Given the description of an element on the screen output the (x, y) to click on. 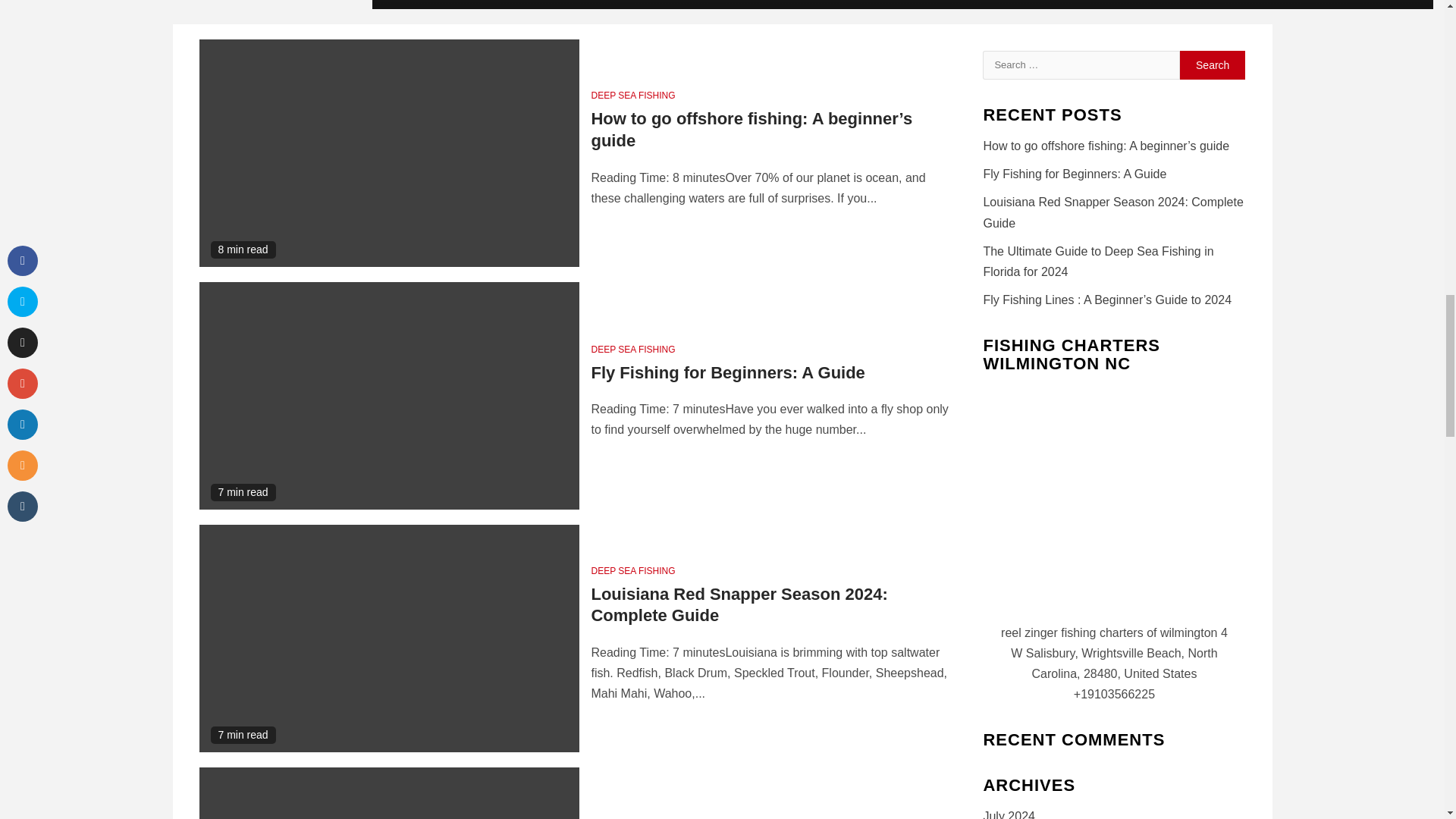
Search (1212, 64)
Search (1212, 64)
